Given the description of an element on the screen output the (x, y) to click on. 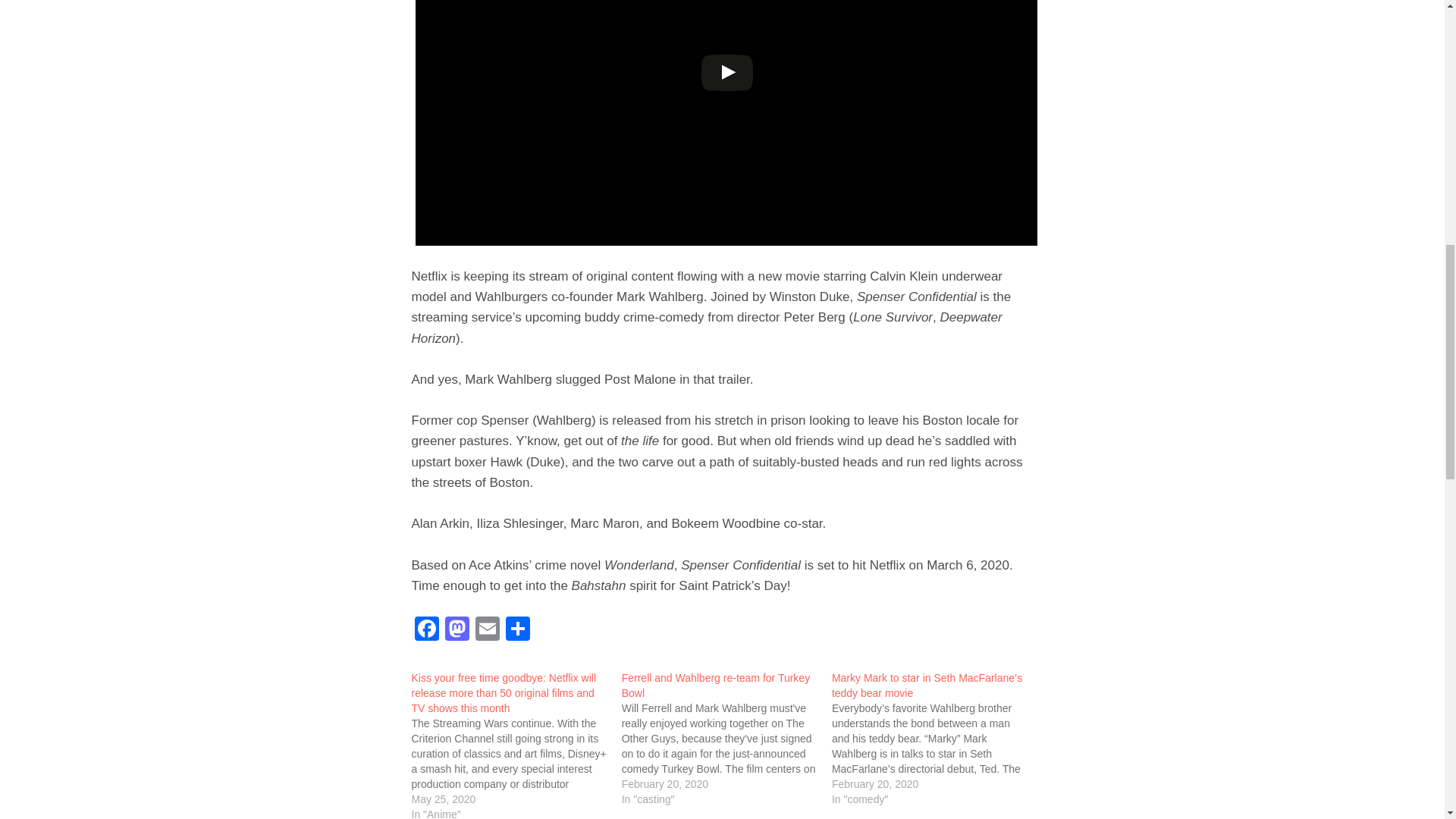
Email (486, 630)
Email (486, 630)
Facebook (425, 630)
Mastodon (456, 630)
Facebook (425, 630)
Ferrell and Wahlberg re-team for Turkey Bowl (715, 685)
Mastodon (456, 630)
